Given the description of an element on the screen output the (x, y) to click on. 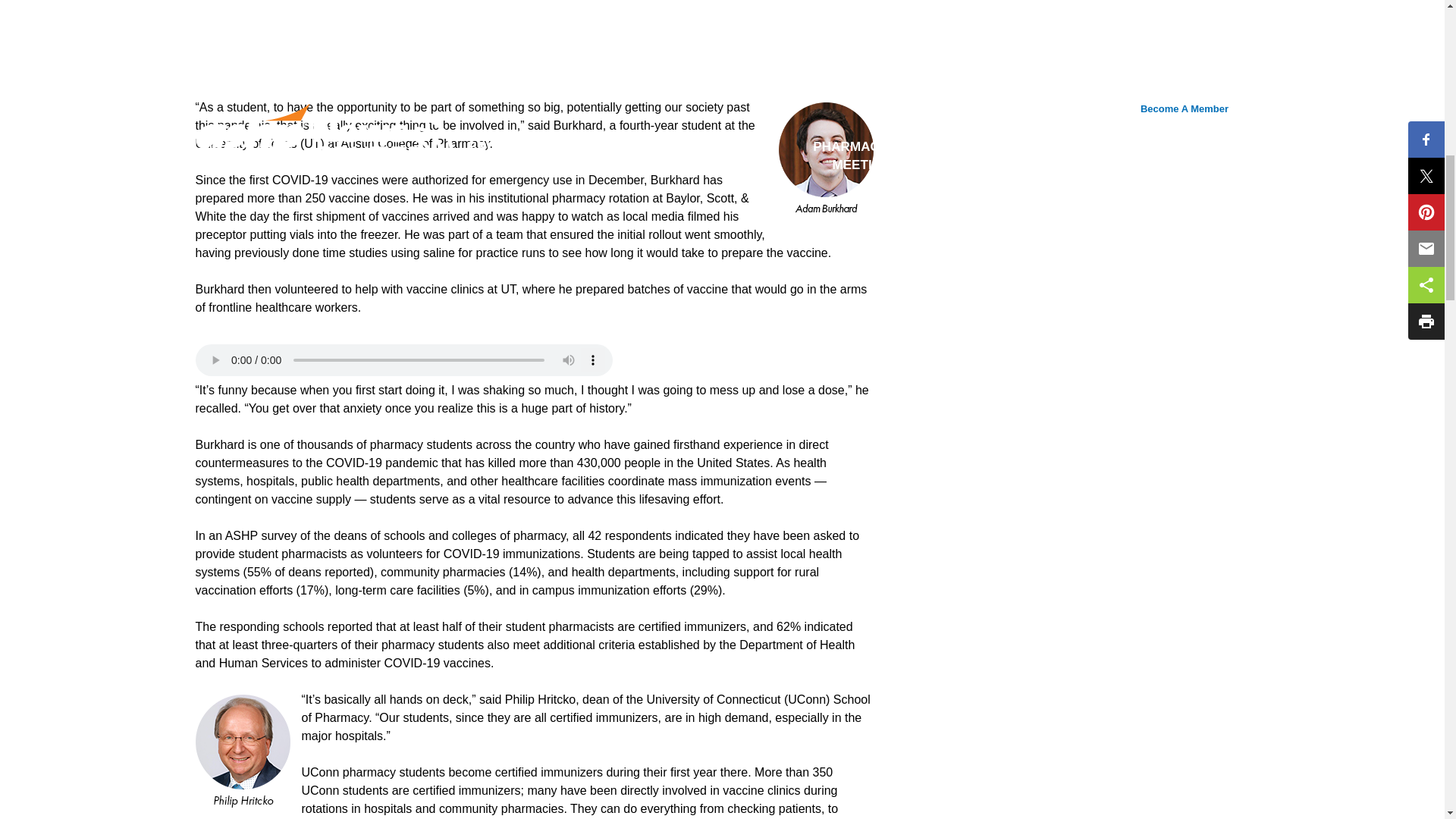
3rd party ad content (1073, 190)
